Given the description of an element on the screen output the (x, y) to click on. 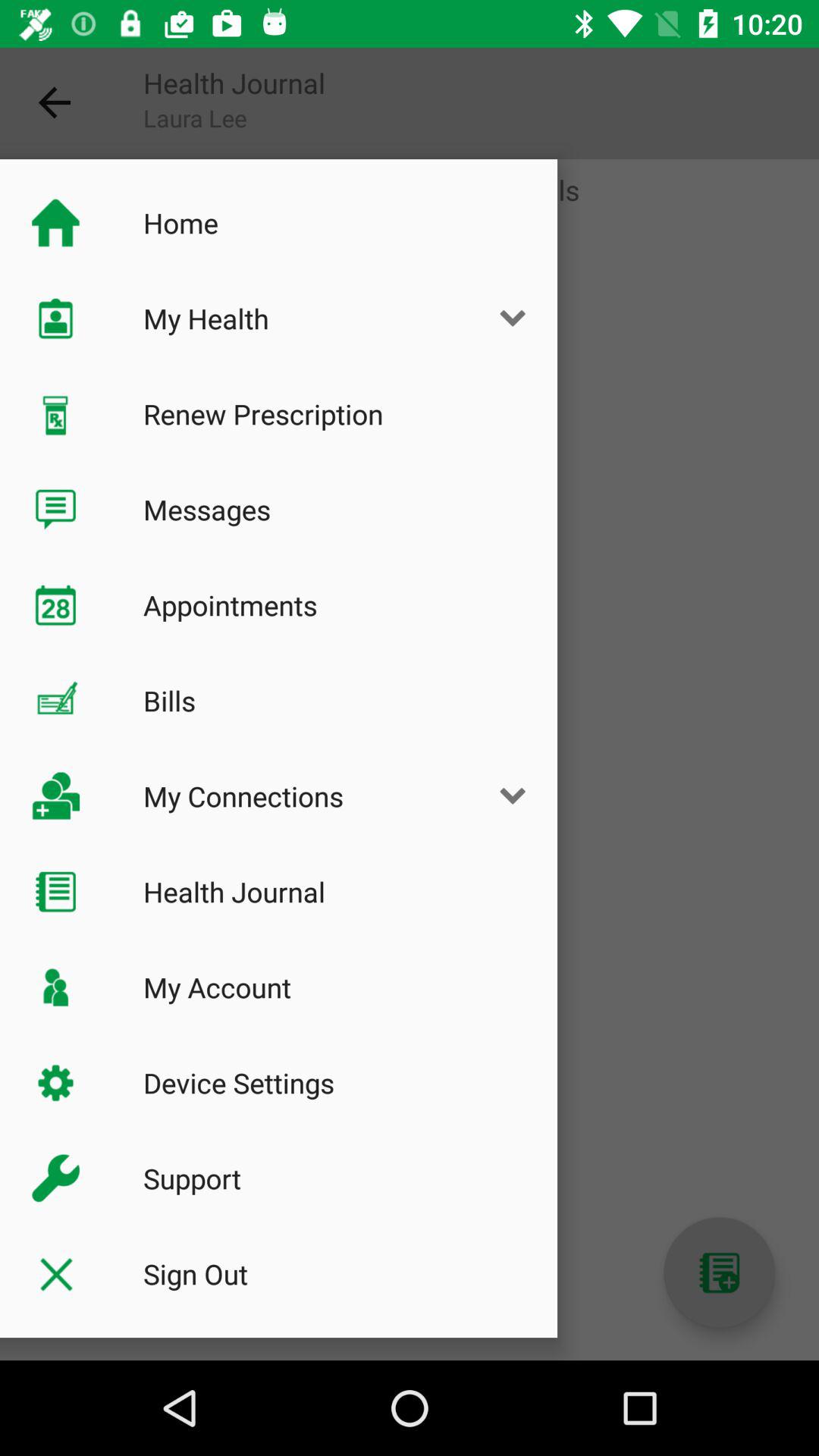
press the icon next to health journal item (55, 103)
